Given the description of an element on the screen output the (x, y) to click on. 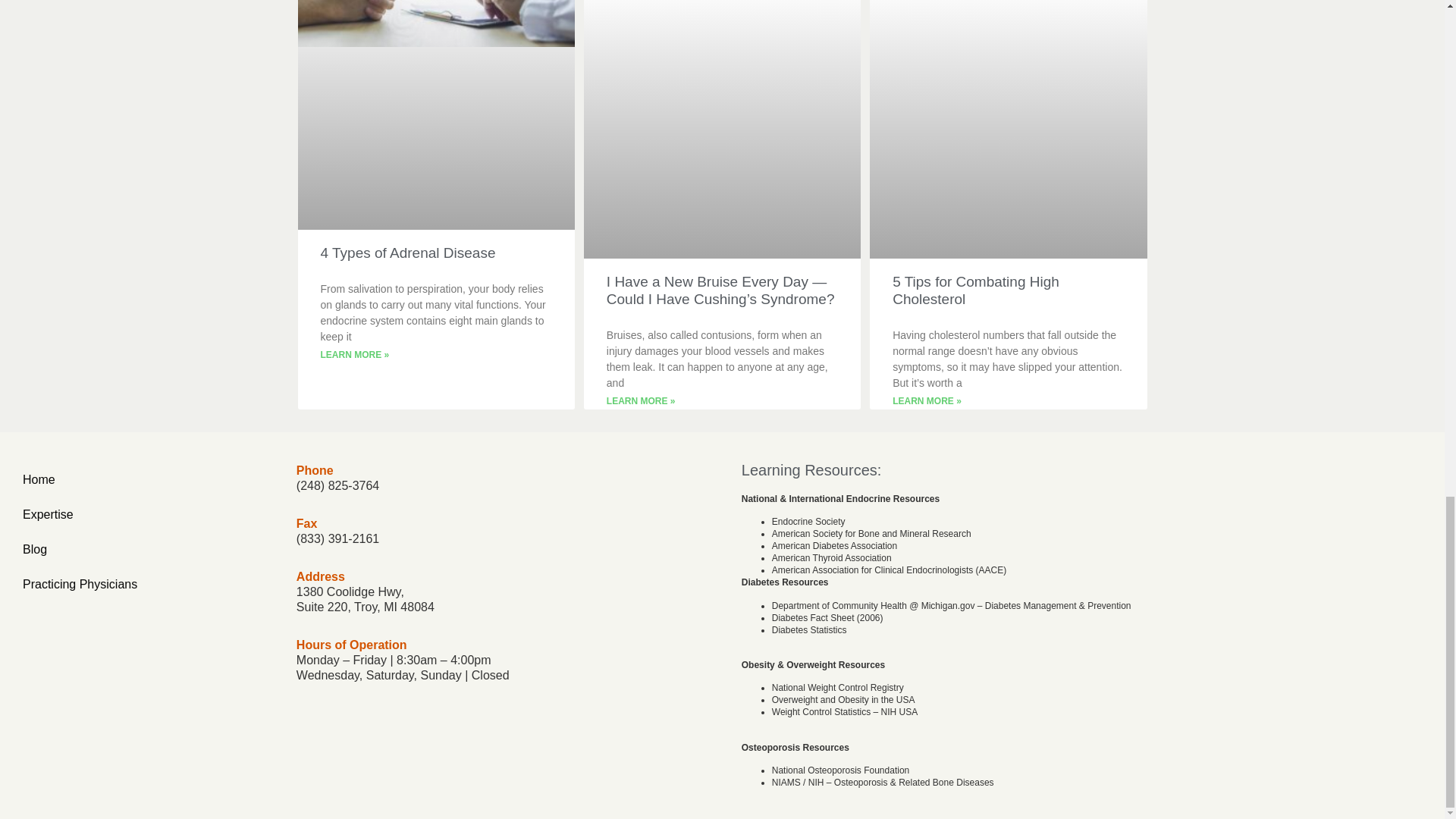
Expertise (147, 514)
Practicing Physicians (147, 584)
5 Tips for Combating High Cholesterol (975, 290)
Diabetes Statistics (809, 629)
American Thyroid Association (831, 557)
National Weight Control Registry (837, 687)
American Society for Bone and Mineral Research (871, 533)
Home (147, 479)
American Diabetes Association (833, 545)
Blog (147, 549)
